Given the description of an element on the screen output the (x, y) to click on. 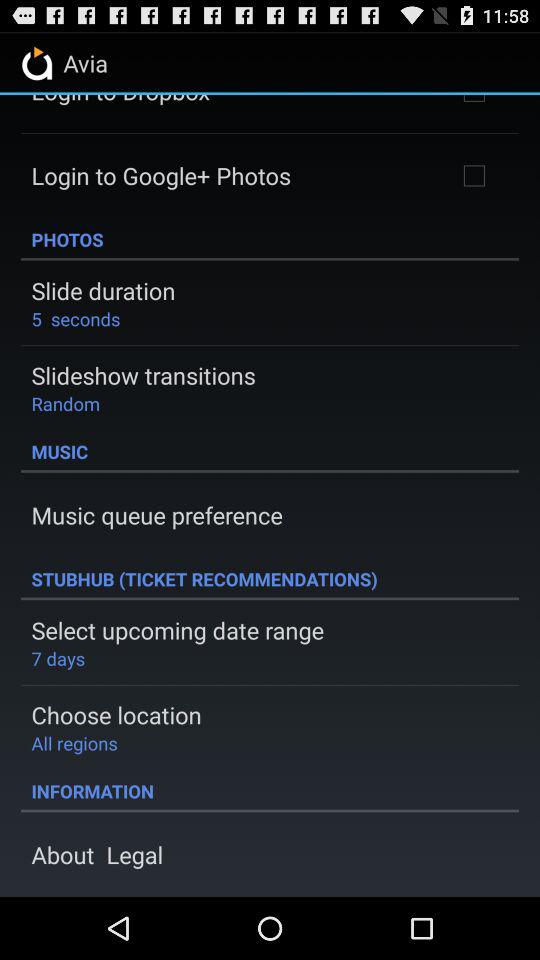
select the item below the stubhub (ticket recommendations) item (177, 630)
